Given the description of an element on the screen output the (x, y) to click on. 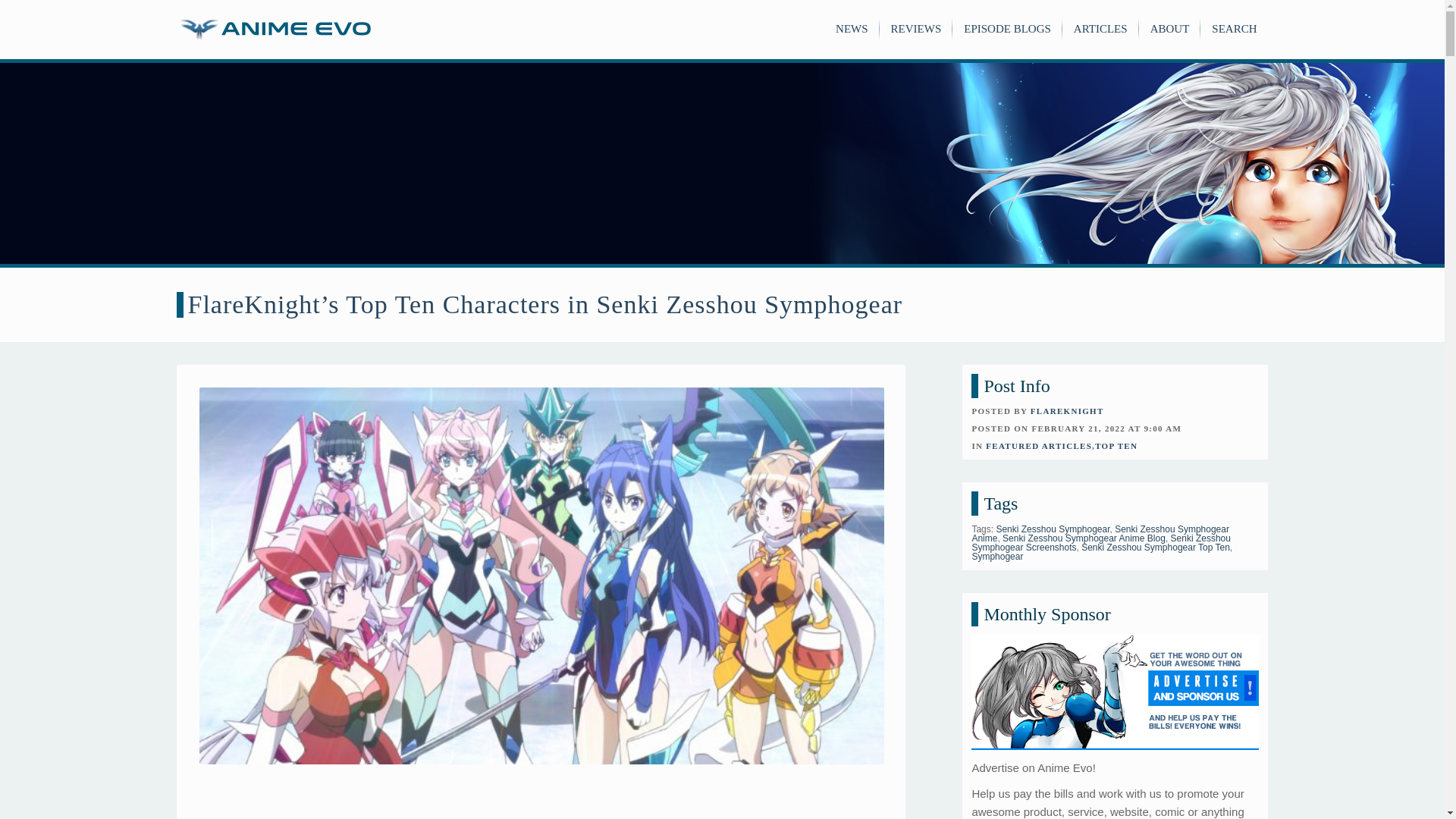
Symphogear (997, 556)
ARTICLES (1100, 28)
Senki Zesshou Symphogear Anime Blog (1084, 538)
NEWS (851, 28)
REVIEWS (916, 28)
Senki Zesshou Symphogear (1052, 529)
EPISODE BLOGS (1007, 28)
Senki Zesshou Symphogear Top Ten (1155, 547)
ABOUT (1169, 28)
SEARCH (1233, 28)
TOP TEN (1115, 445)
Senki Zesshou Symphogear Screenshots (1100, 542)
Senki Zesshou Symphogear Anime (1099, 533)
FLAREKNIGHT (1066, 410)
FEATURED ARTICLES (1038, 445)
